Given the description of an element on the screen output the (x, y) to click on. 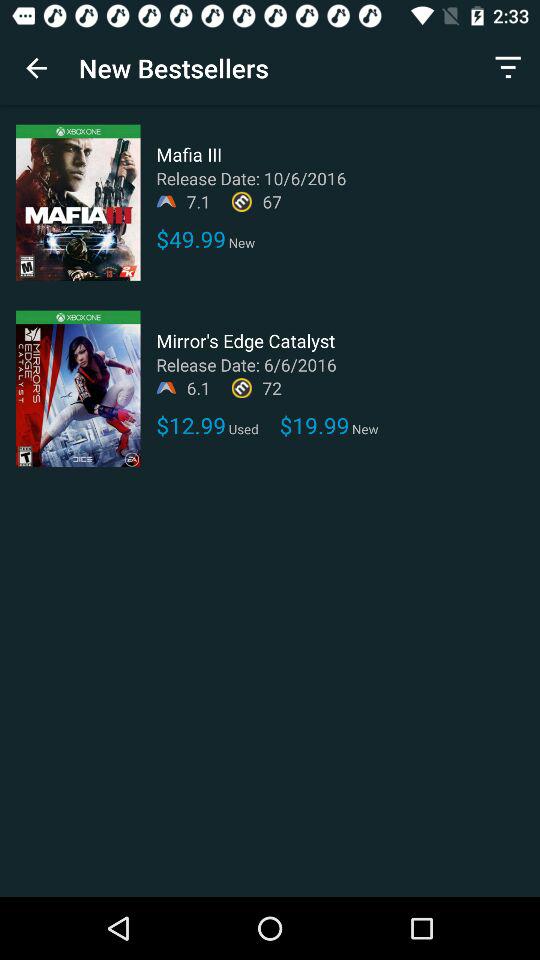
open app next to new bestsellers app (508, 67)
